Given the description of an element on the screen output the (x, y) to click on. 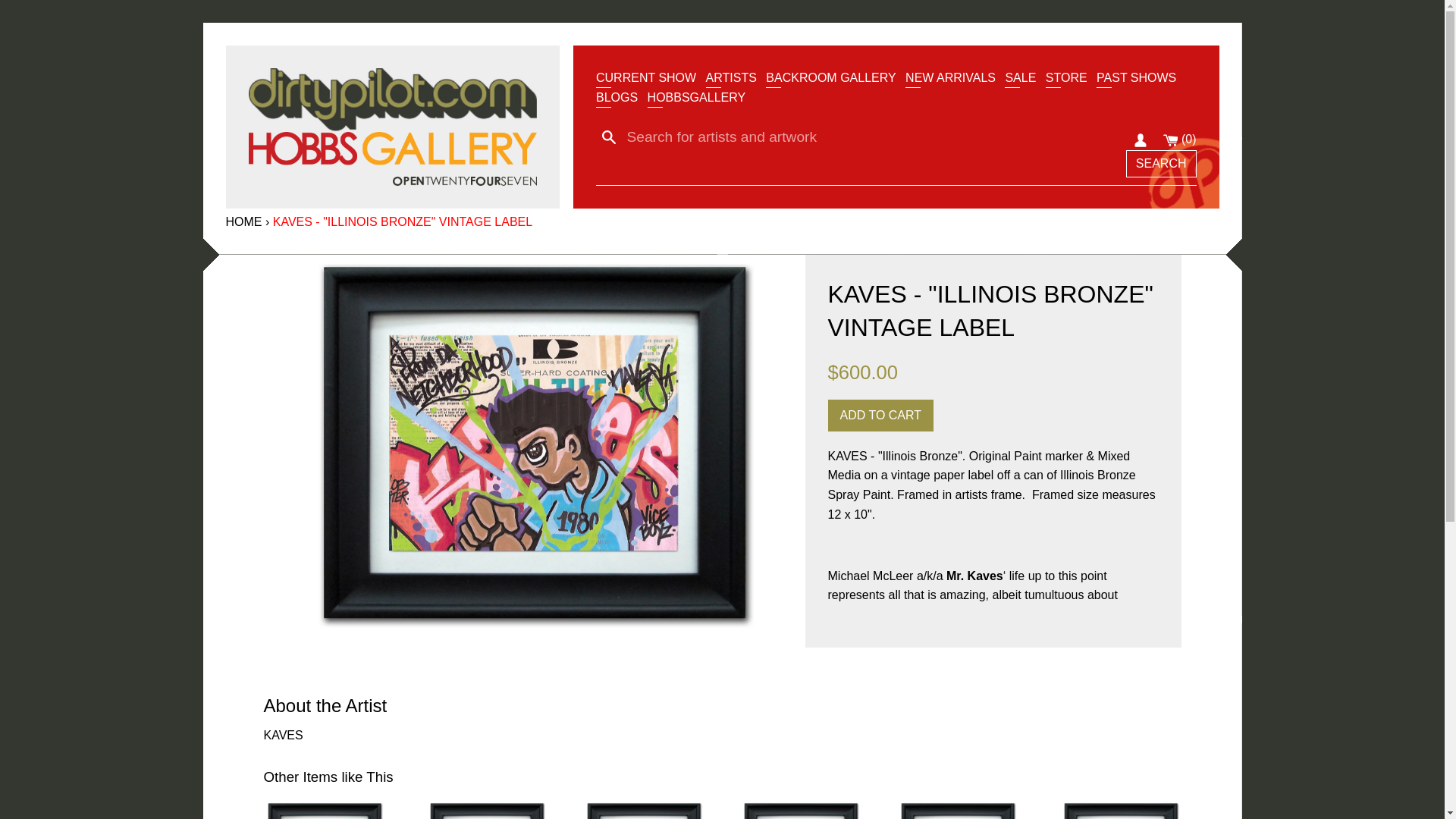
ADD TO CART (881, 415)
NEW ARRIVALS (950, 77)
BLOGS (616, 97)
HOME (243, 221)
ARTISTS (731, 77)
PAST SHOWS (1136, 77)
Home (243, 221)
SEARCH (1160, 163)
HOBBSGALLERY (696, 97)
BACKROOM GALLERY (830, 77)
STORE (1066, 77)
CURRENT SHOW (645, 77)
SALE (1019, 77)
